Given the description of an element on the screen output the (x, y) to click on. 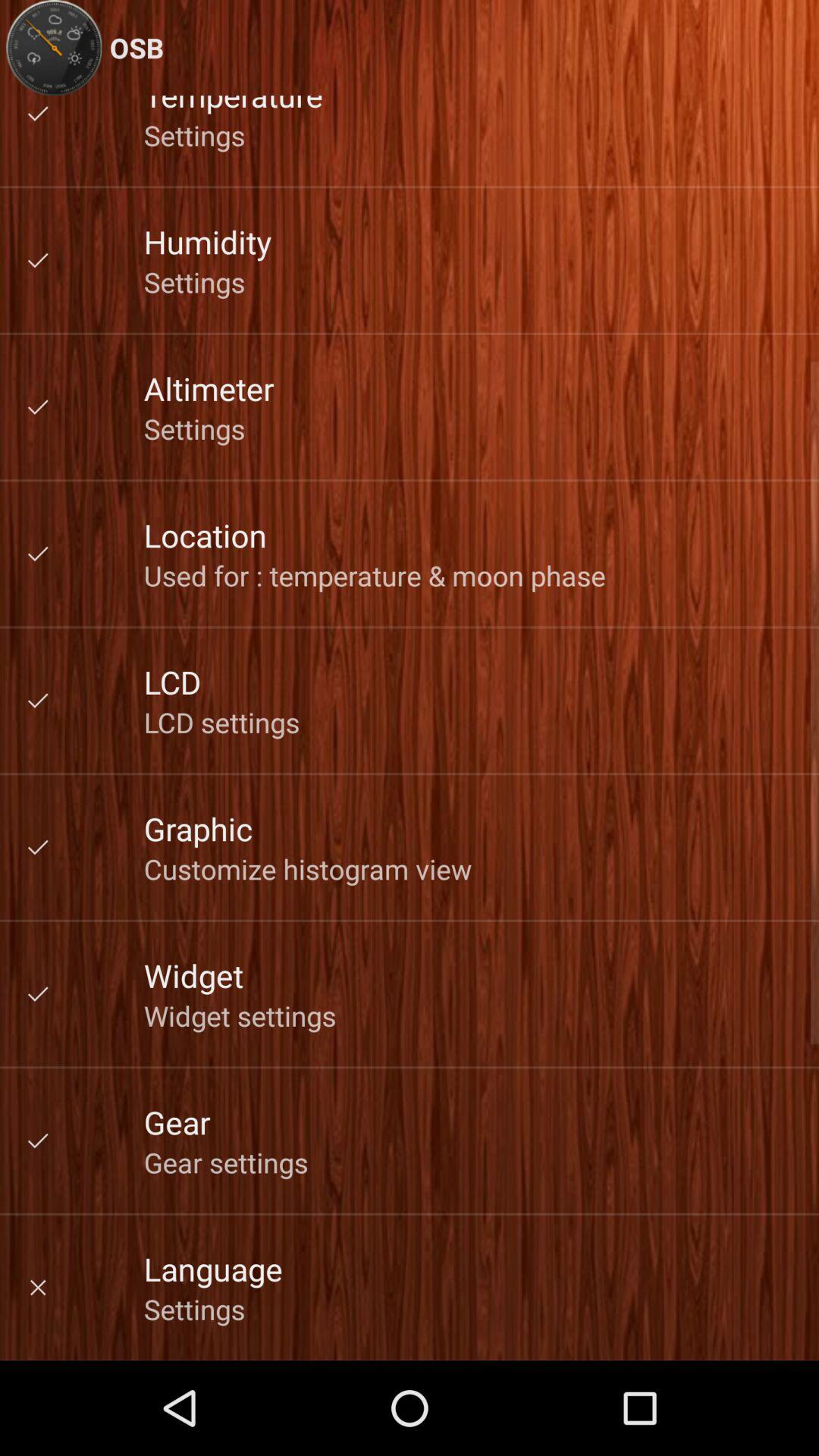
turn on the icon above graphic icon (221, 722)
